Given the description of an element on the screen output the (x, y) to click on. 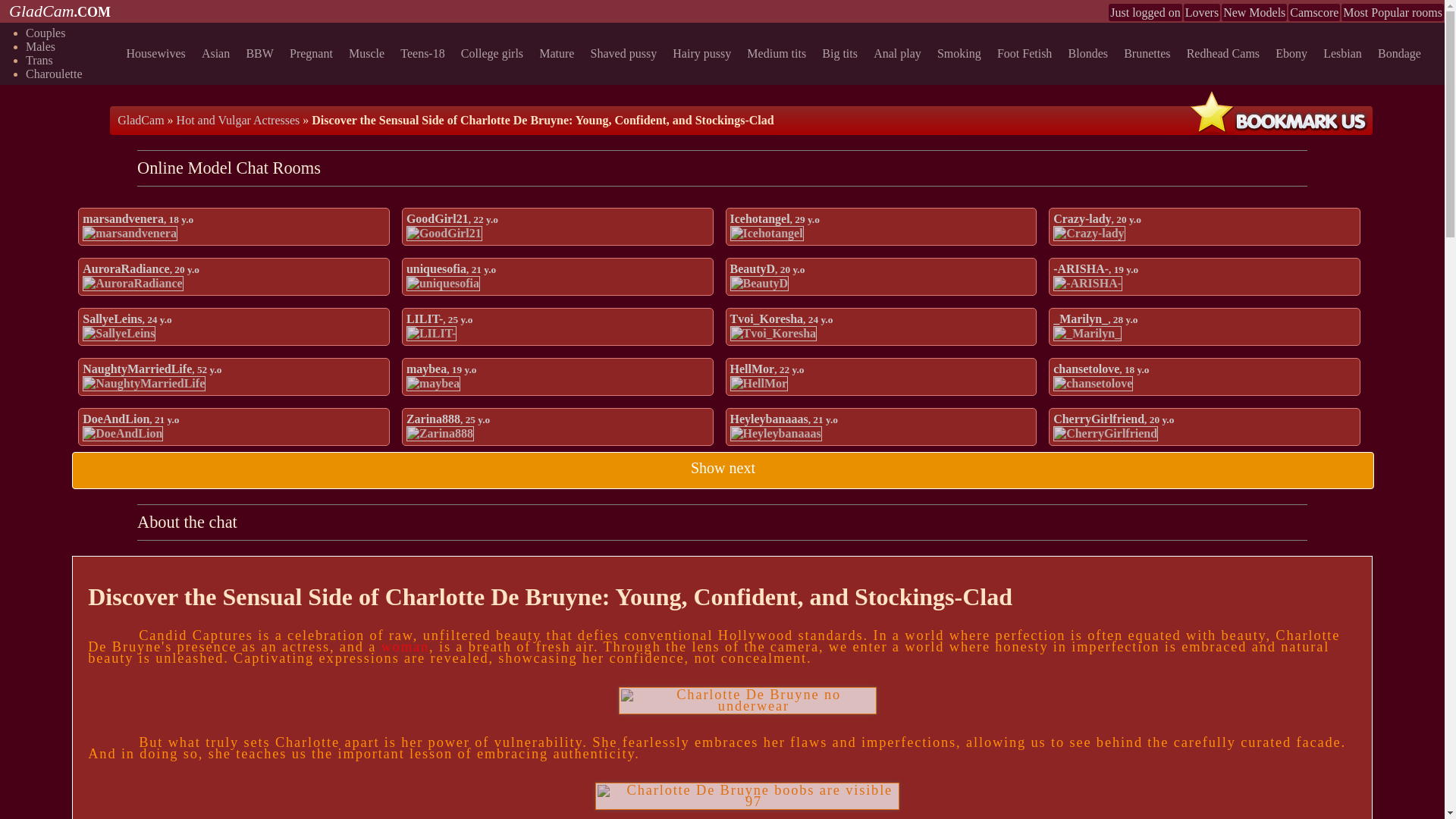
Live Sex Cams with chansetolove (1092, 383)
Live Sex Cams with Heyleybanaaas (775, 433)
Lesbian (1345, 52)
Charoulette (54, 73)
Icehotangel, 29 y.o (773, 218)
Crazy-lady, 20 y.o (1096, 218)
Live Sex Cams with DoeAndLion (122, 433)
Live Sex Cams with maybea (433, 383)
BBW (262, 52)
Brunettes (1149, 52)
GladCam (140, 119)
Live Sex Cams with AuroraRadiance (132, 283)
Live Sex Cams with SallyeLeins (118, 333)
Hairy pussy (704, 52)
Shaved pussy (626, 52)
